Given the description of an element on the screen output the (x, y) to click on. 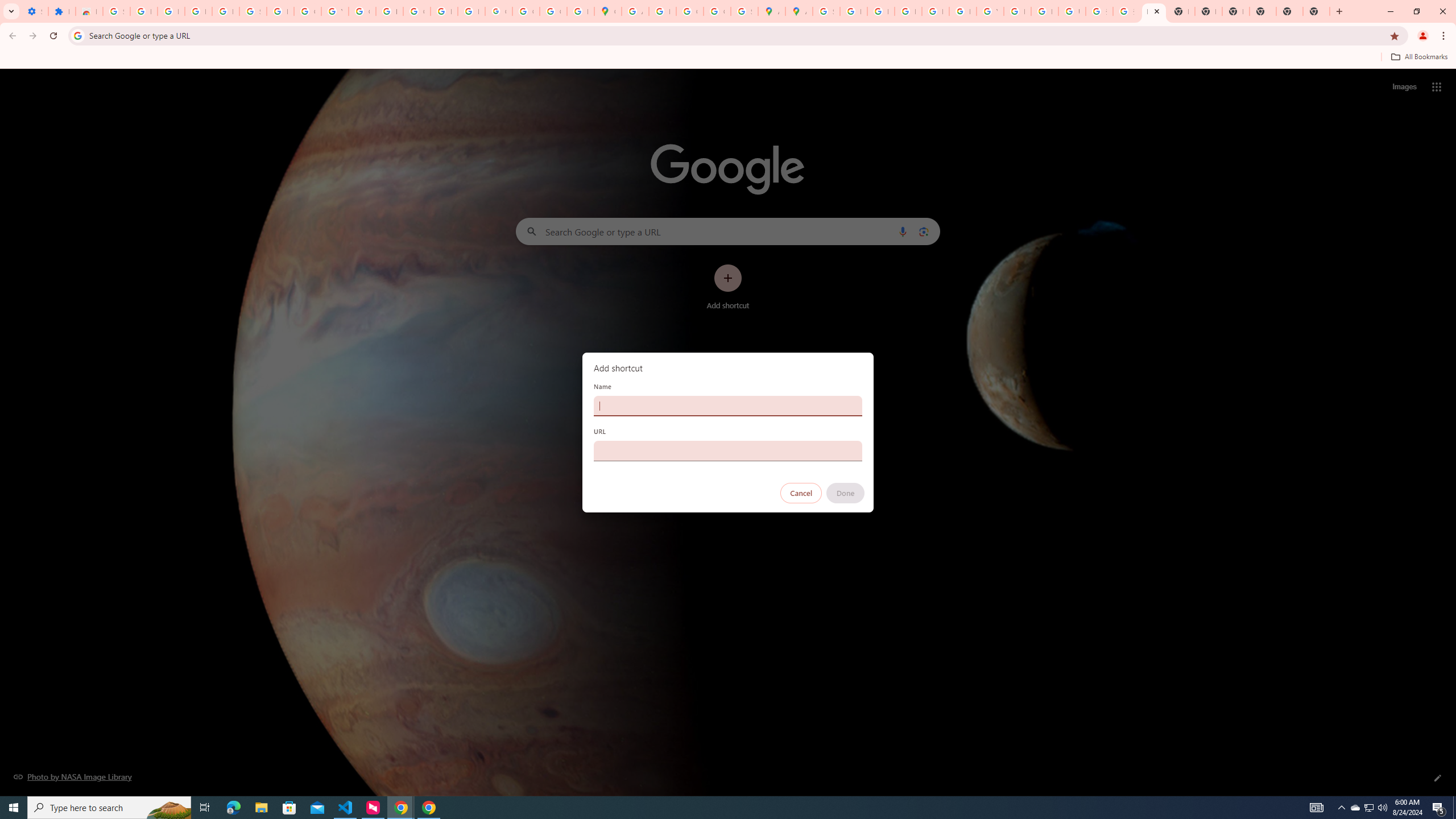
Google Maps (607, 11)
Reviews: Helix Fruit Jump Arcade Game (88, 11)
Google Account (307, 11)
URL (727, 450)
YouTube (990, 11)
Create your Google Account (690, 11)
